Given the description of an element on the screen output the (x, y) to click on. 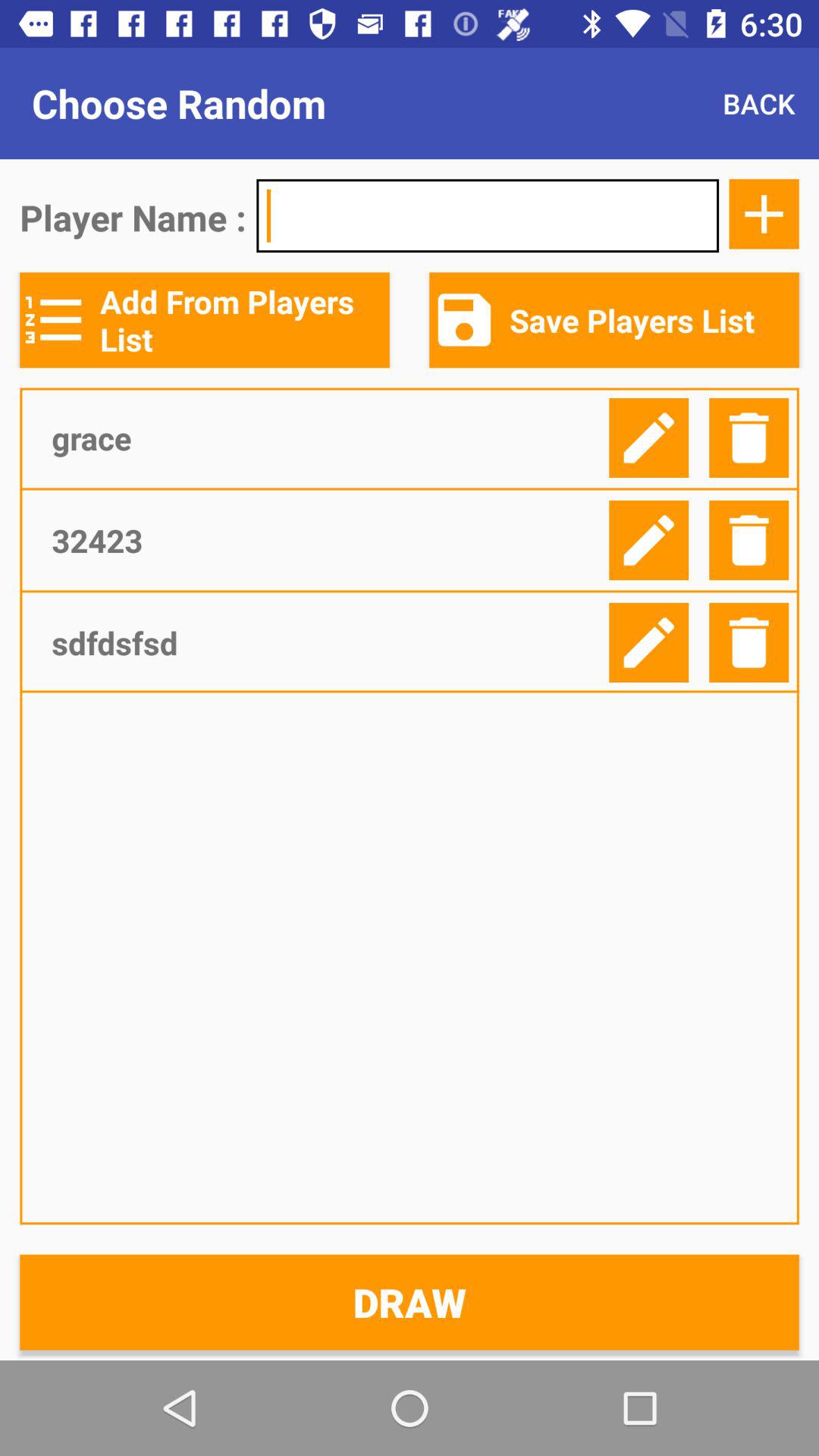
press the item next to choose random icon (758, 103)
